Given the description of an element on the screen output the (x, y) to click on. 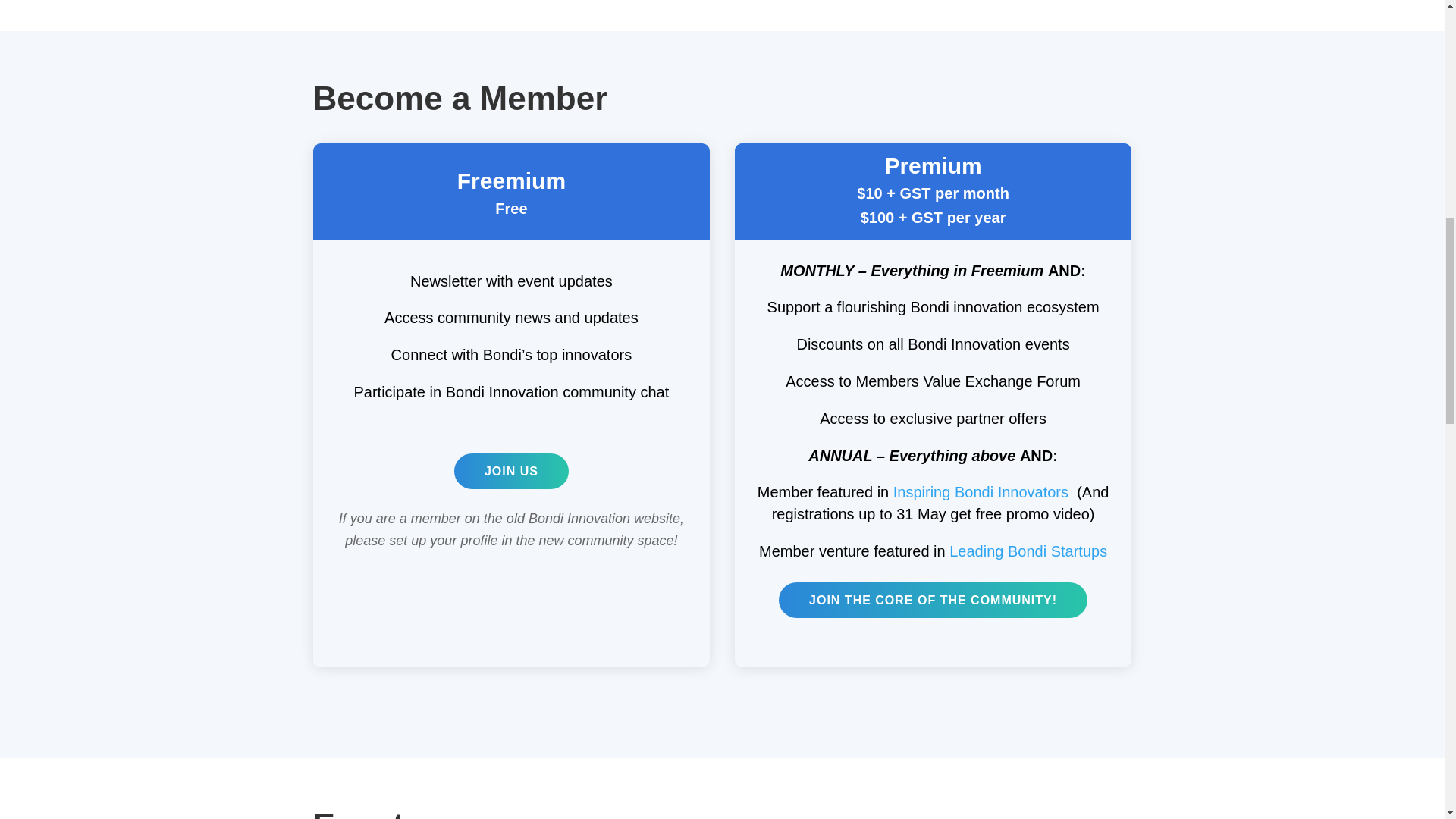
JOIN US (511, 470)
Leading Bondi Startups (1027, 550)
JOIN THE CORE OF THE COMMUNITY! (932, 600)
Inspiring Bondi Innovators (980, 492)
